Given the description of an element on the screen output the (x, y) to click on. 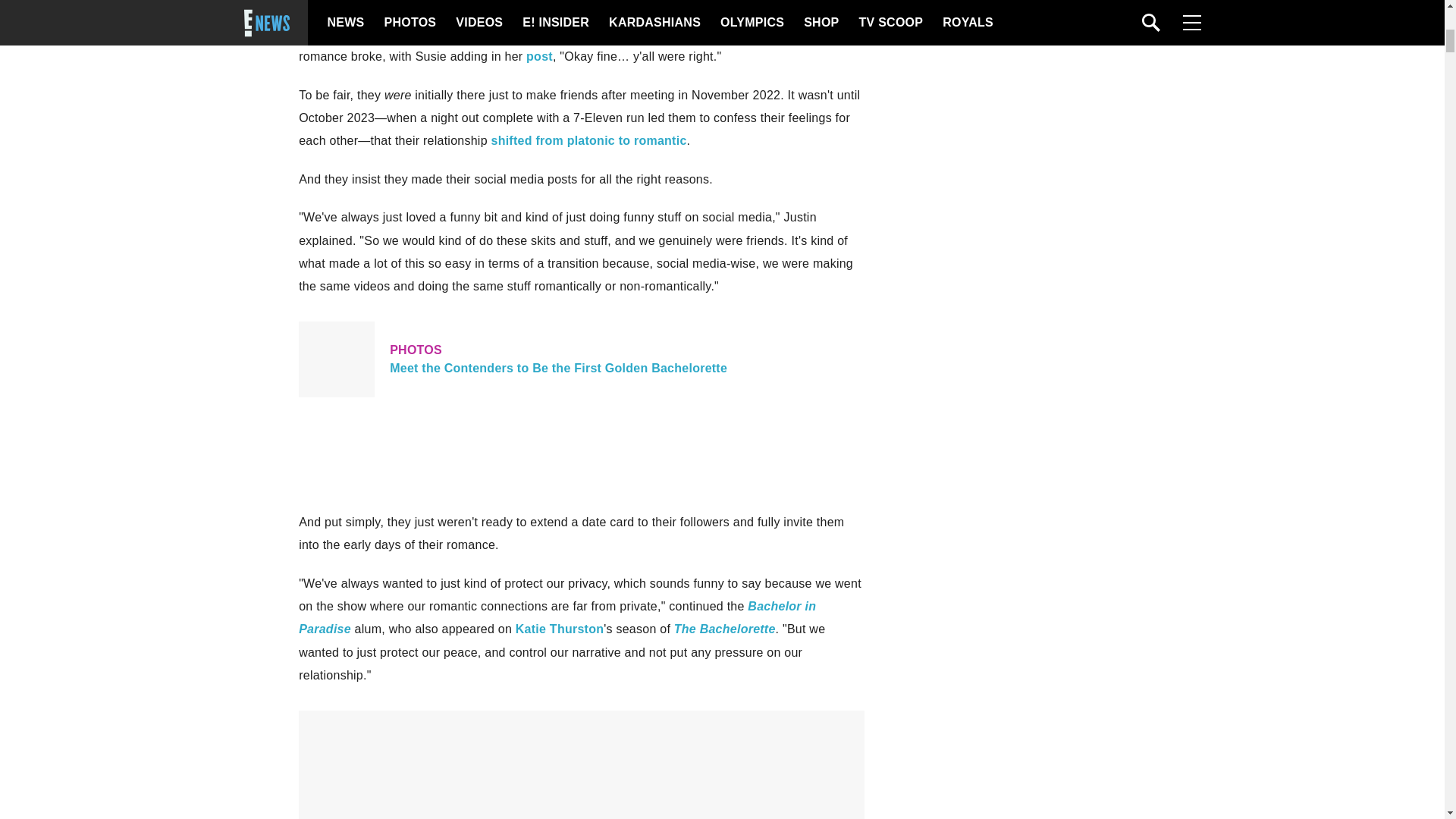
Katie Thurston (559, 628)
shifted from platonic to romantic (589, 140)
The Bachelorette (725, 628)
post (539, 56)
Bachelor in Paradise (556, 617)
